Given the description of an element on the screen output the (x, y) to click on. 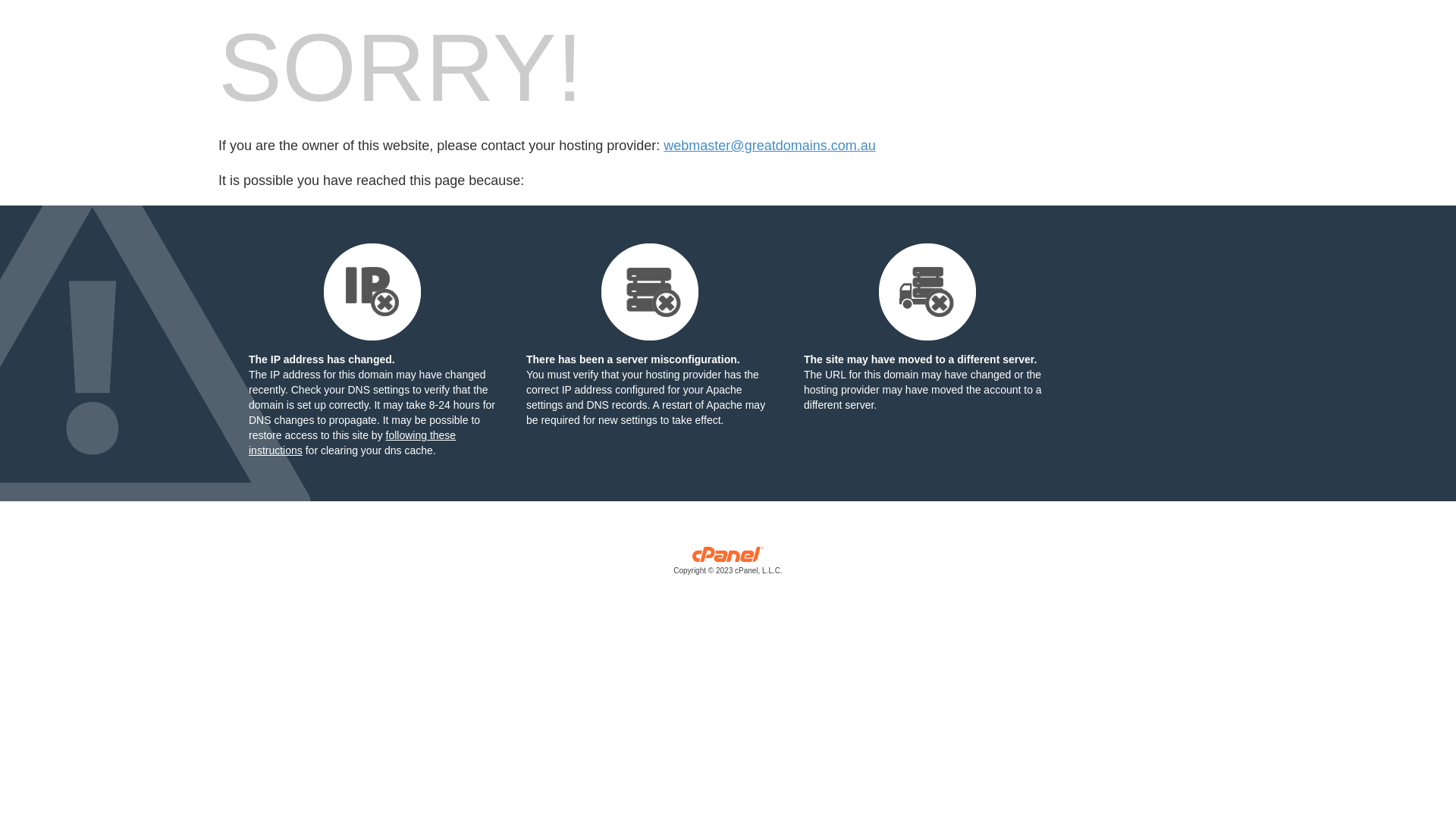
webmaster@greatdomains.com.au Element type: text (769, 145)
following these instructions Element type: text (351, 442)
